Given the description of an element on the screen output the (x, y) to click on. 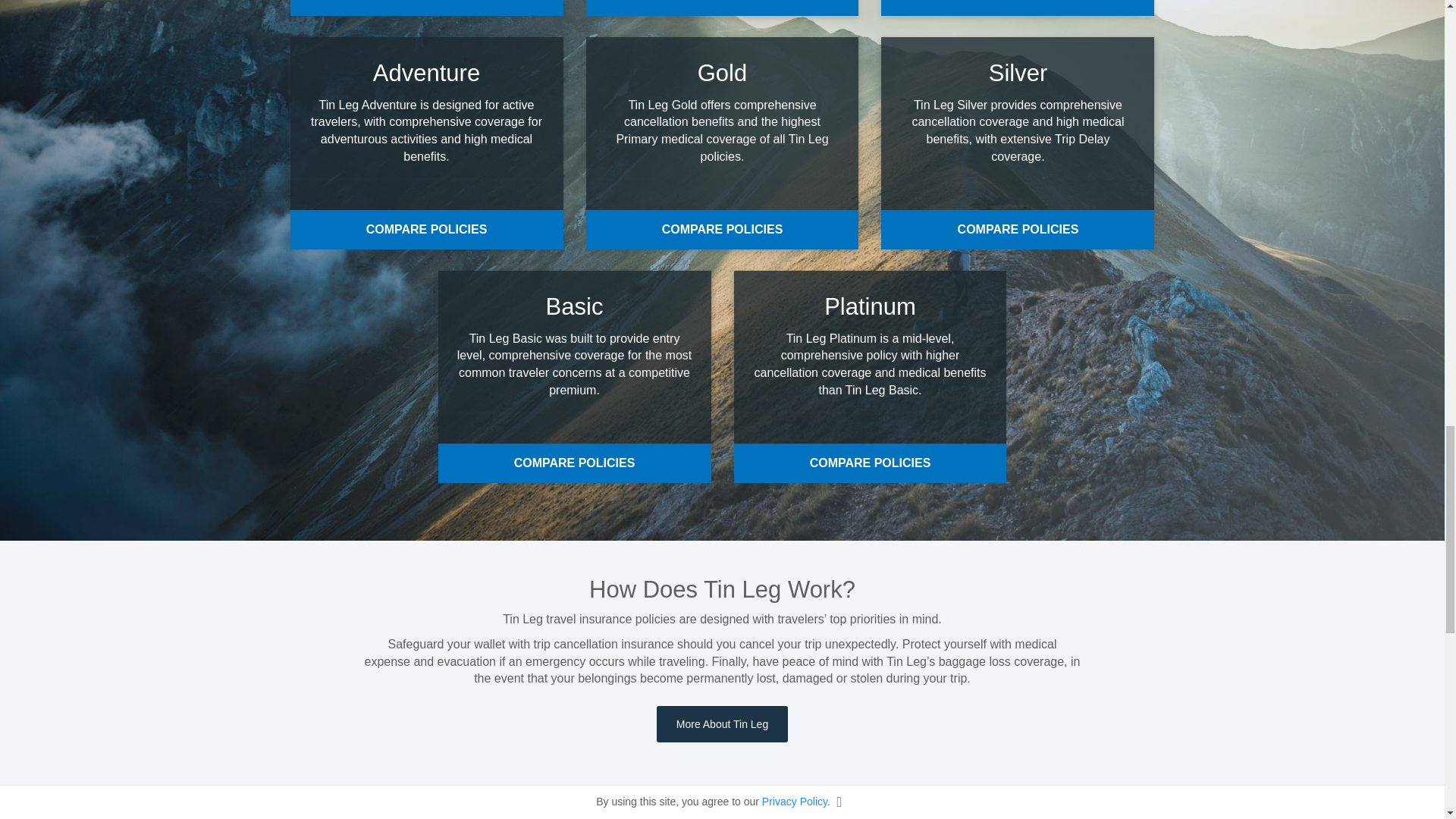
COMPARE POLICIES (722, 229)
COMPARE POLICIES (426, 229)
COMPARE POLICIES (1017, 7)
More About Tin Leg (721, 723)
COMPARE POLICIES (426, 7)
COMPARE POLICIES (574, 463)
COMPARE POLICIES (870, 463)
COMPARE POLICIES (722, 7)
COMPARE POLICIES (1017, 229)
